Given the description of an element on the screen output the (x, y) to click on. 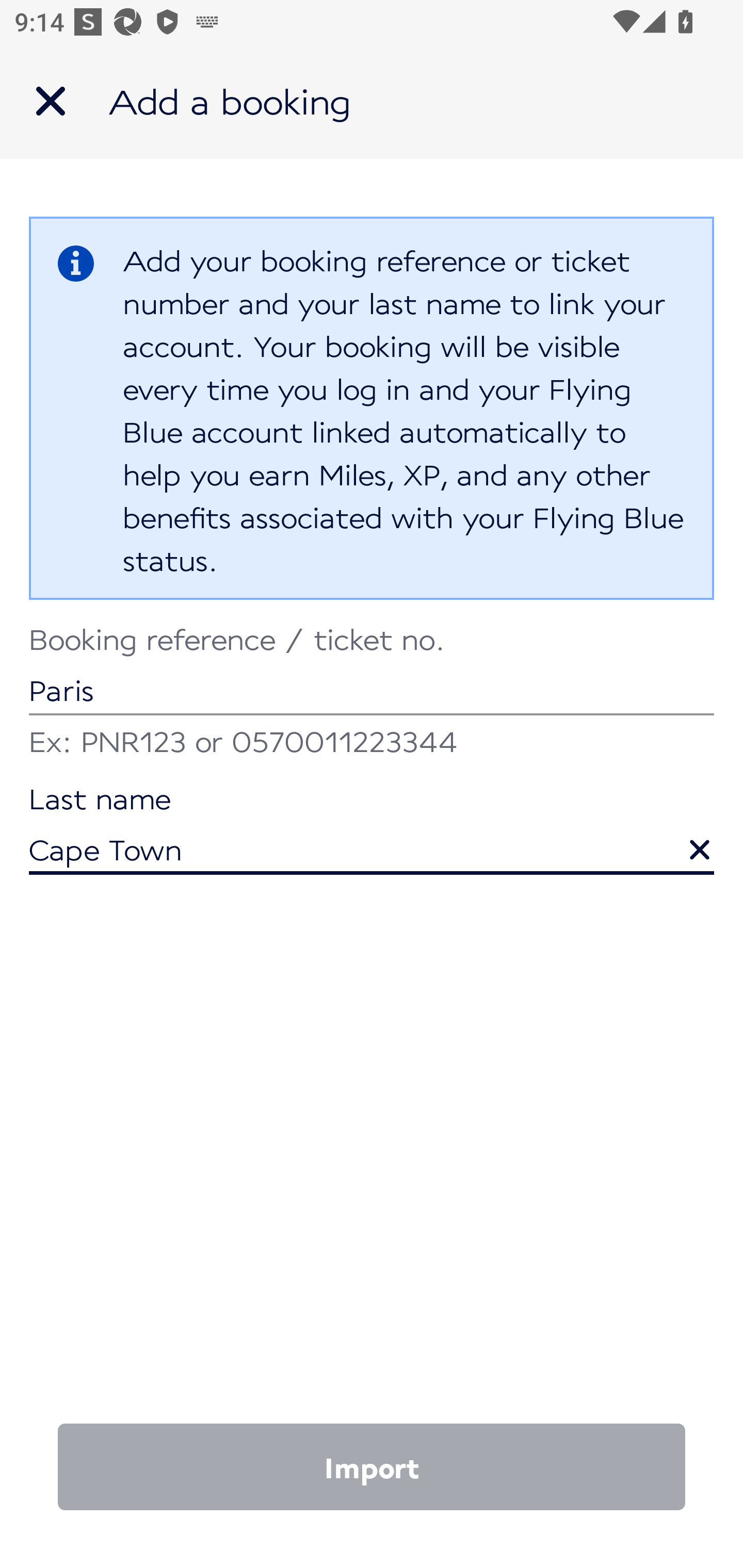
Paris Ex: PNR123 or 0570011223344 (371, 693)
Paris (371, 671)
Cape Town Clear text (371, 831)
Clear text (685, 839)
Import (371, 1466)
